Given the description of an element on the screen output the (x, y) to click on. 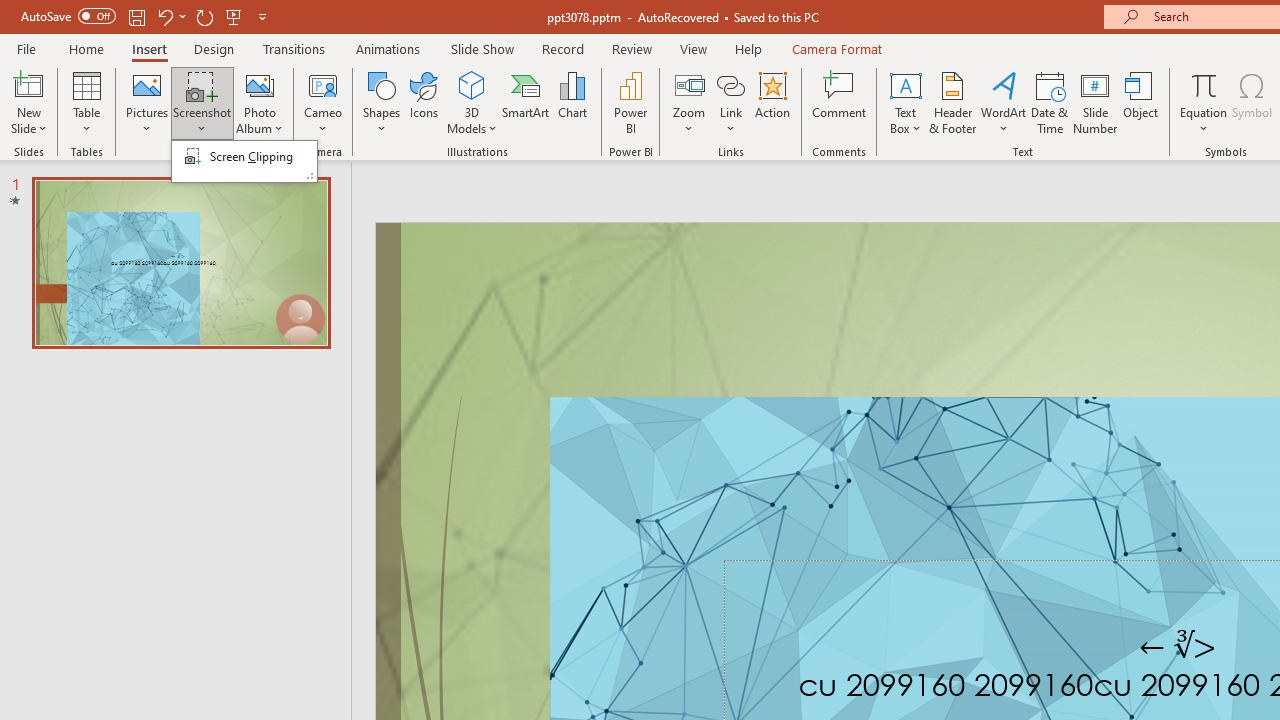
Screenshot (202, 102)
TextBox 7 (1178, 646)
Draw Horizontal Text Box (905, 84)
SmartArt... (525, 102)
Icons (424, 102)
Chart... (572, 102)
Action (772, 102)
Object... (1141, 102)
Header & Footer... (952, 102)
